Given the description of an element on the screen output the (x, y) to click on. 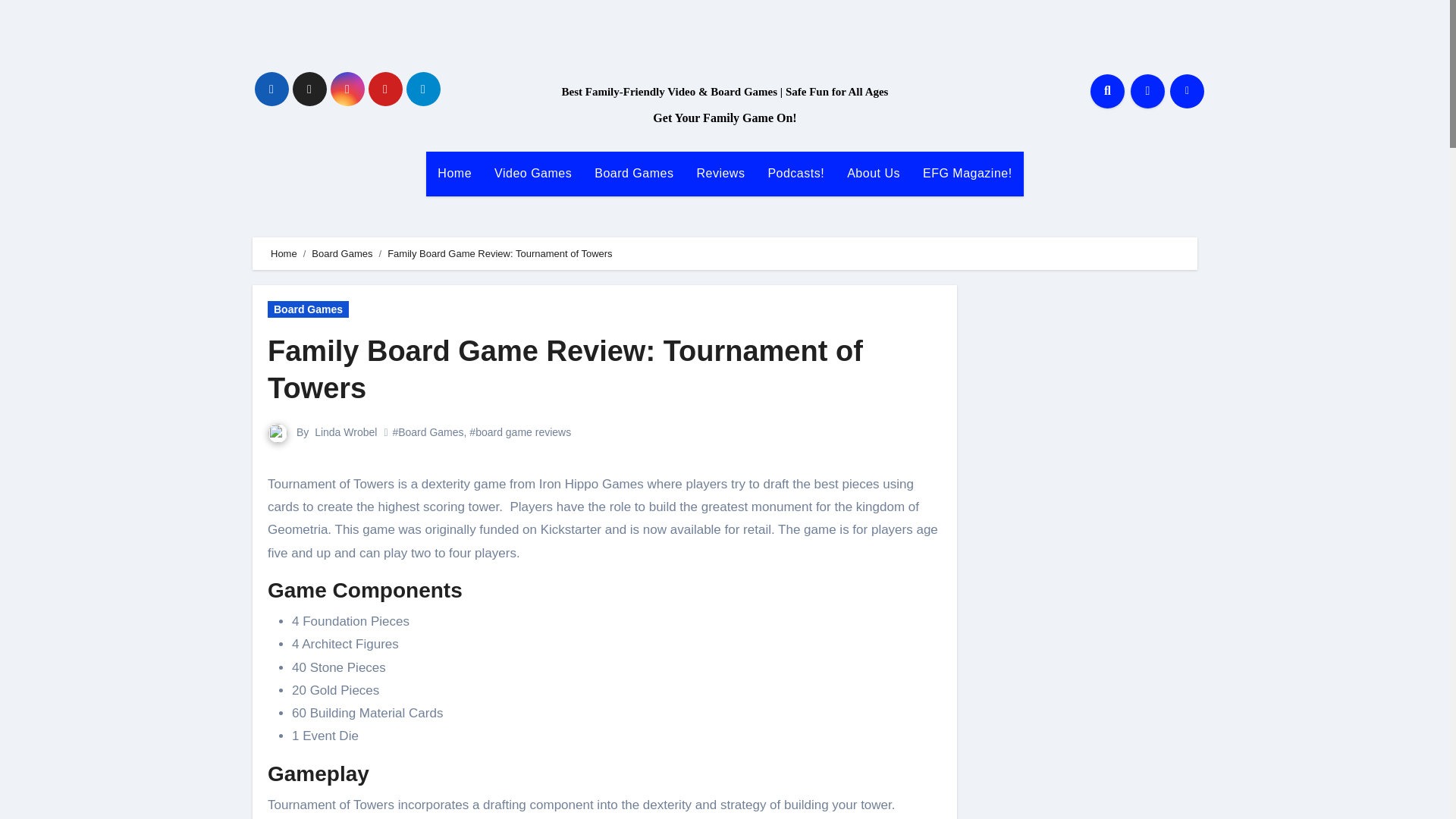
About Us (873, 173)
Permalink to: Family Board Game Review: Tournament of Towers (565, 369)
Board Games (341, 253)
Board Games (633, 173)
EFG Magazine! (967, 173)
Podcasts! (795, 173)
Linda Wrobel (345, 431)
EFG Magazine! (967, 173)
Reviews (719, 173)
Podcasts! (795, 173)
